Given the description of an element on the screen output the (x, y) to click on. 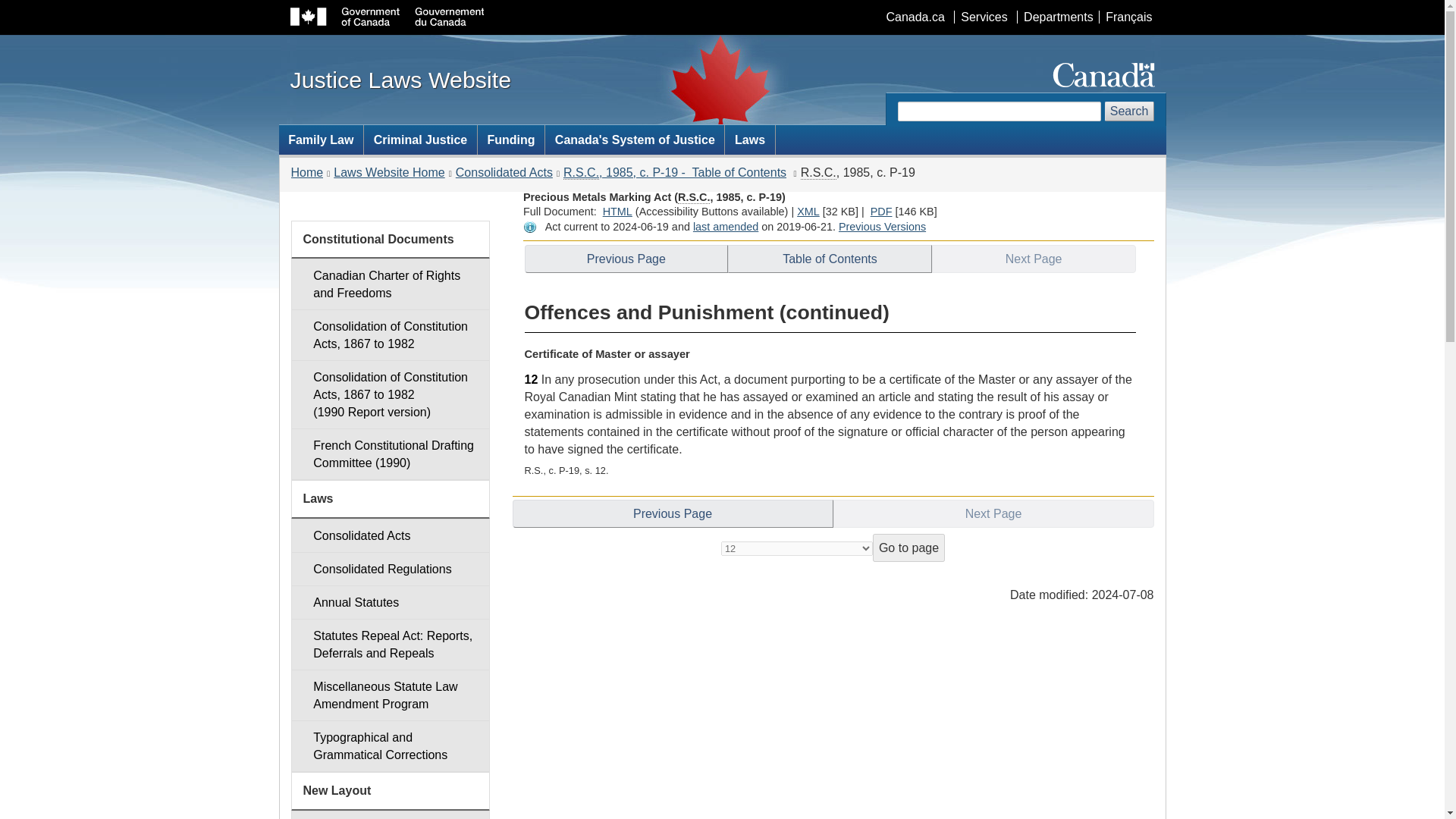
Justice Laws Website (400, 79)
Revised Statutes of Canada (817, 172)
Canadian Charter of Rights and Freedoms (390, 284)
Previous Page (626, 258)
Consolidated Regulations and Orders (390, 569)
Skip to main content (807, 211)
Revised Statutes of Canada (725, 11)
Services (580, 172)
Consolidated Acts (983, 16)
